Given the description of an element on the screen output the (x, y) to click on. 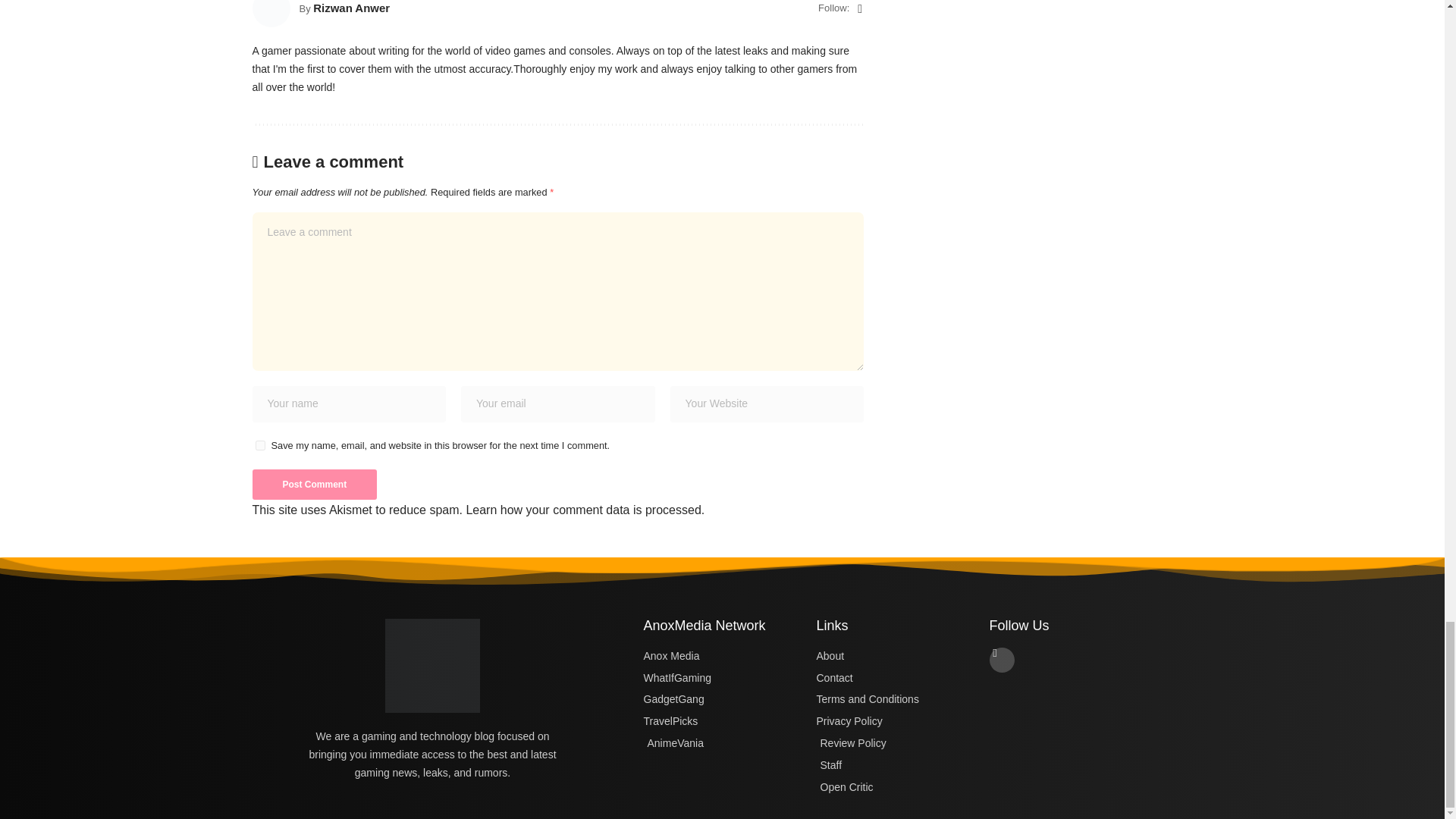
yes (259, 445)
Post Comment (314, 484)
